Given the description of an element on the screen output the (x, y) to click on. 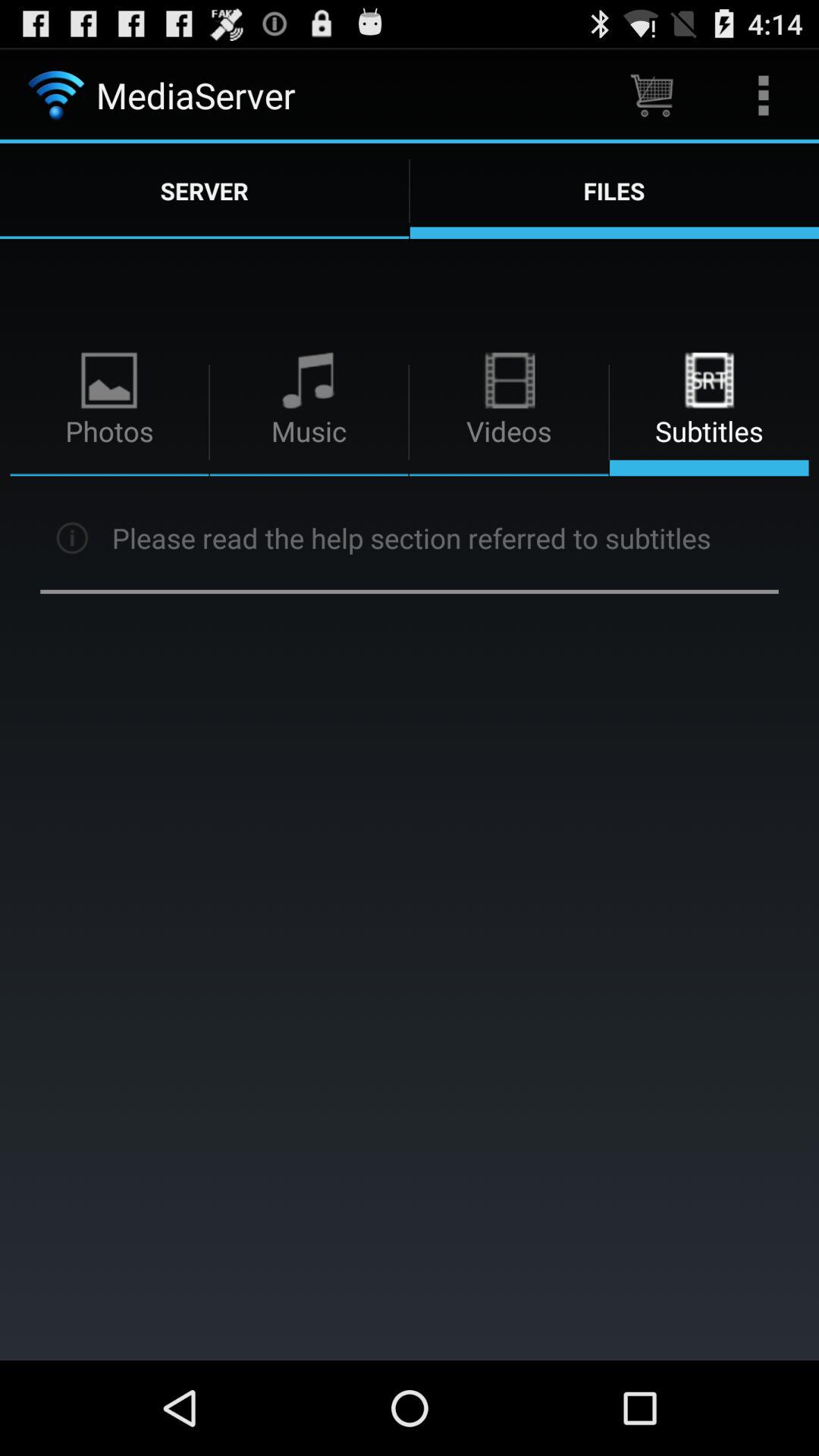
press the item above files icon (651, 95)
